Given the description of an element on the screen output the (x, y) to click on. 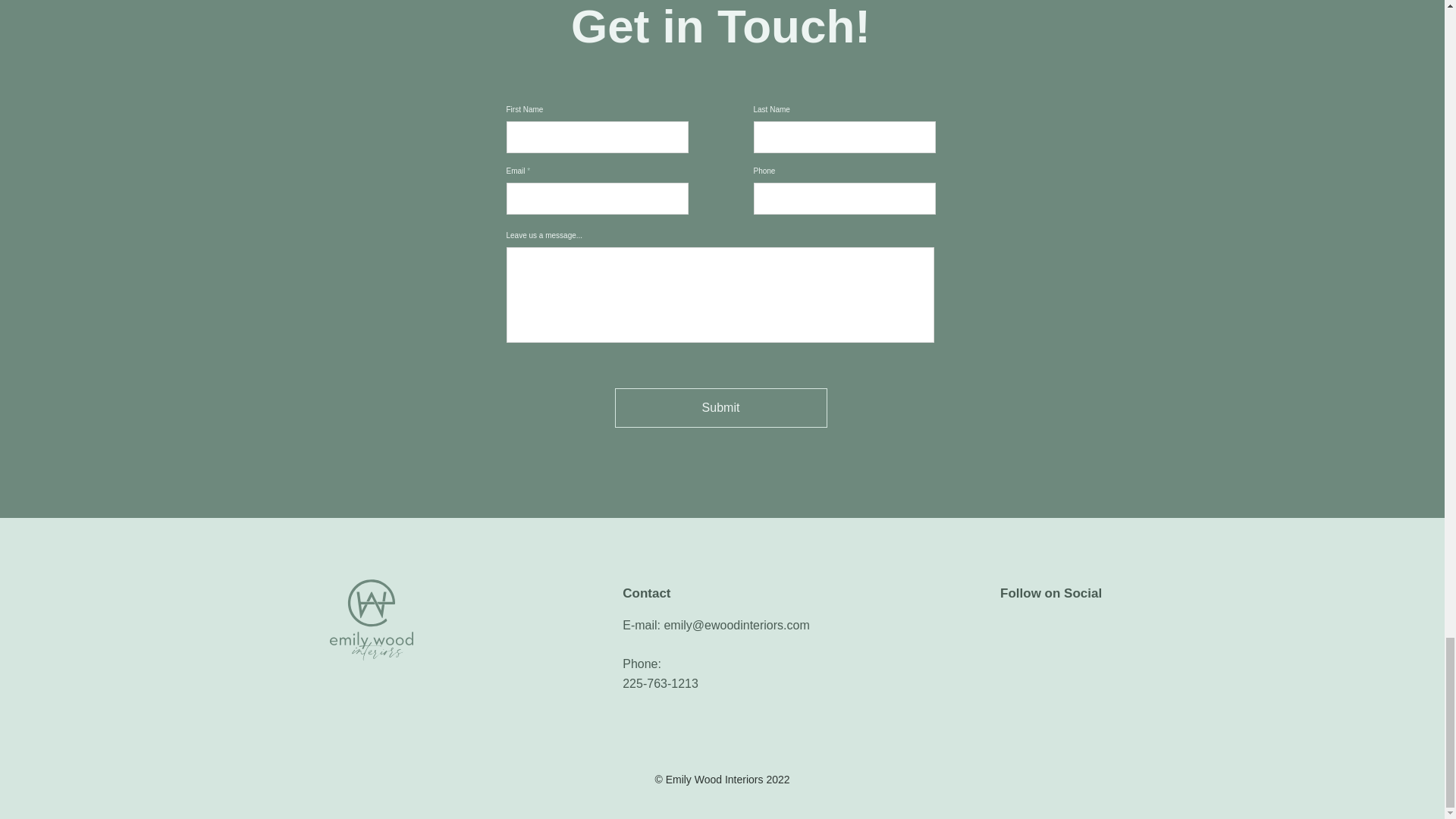
Submit (720, 407)
